Given the description of an element on the screen output the (x, y) to click on. 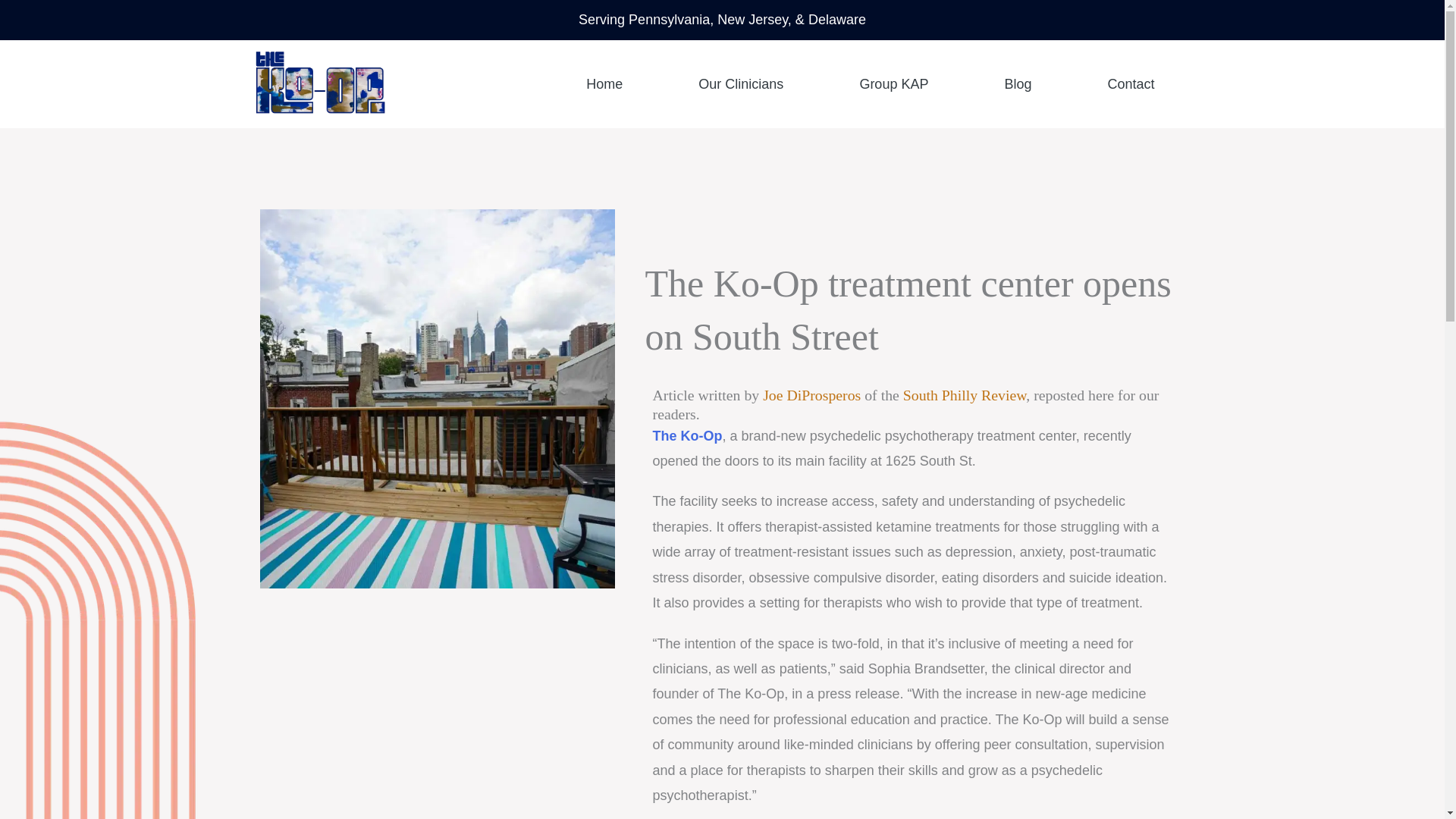
Blog (1017, 83)
South Philly Review (964, 394)
Joe DiProsperos (811, 394)
Our Clinicians (741, 83)
The Ko-Op (687, 435)
Home (604, 83)
Group KAP (893, 83)
Contact (1130, 83)
